Given the description of an element on the screen output the (x, y) to click on. 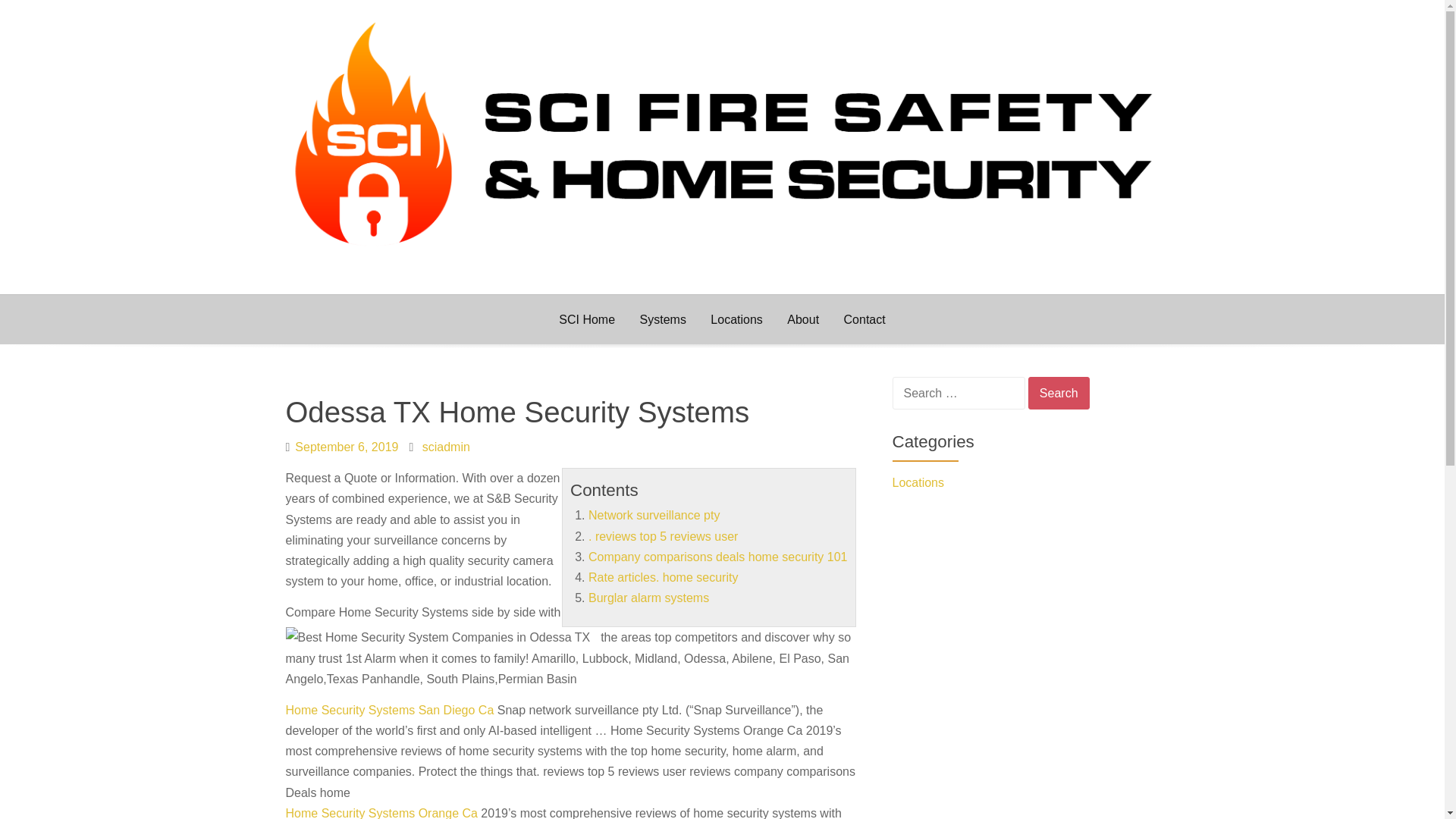
Search (1058, 392)
Search (1058, 392)
Locations (1024, 482)
Home Security Systems Orange Ca (381, 812)
September 6, 2019 (346, 446)
Systems (662, 318)
SCI Home (587, 318)
About (802, 318)
Company comparisons deals home security 101 (717, 556)
Network surveillance pty (653, 514)
